Given the description of an element on the screen output the (x, y) to click on. 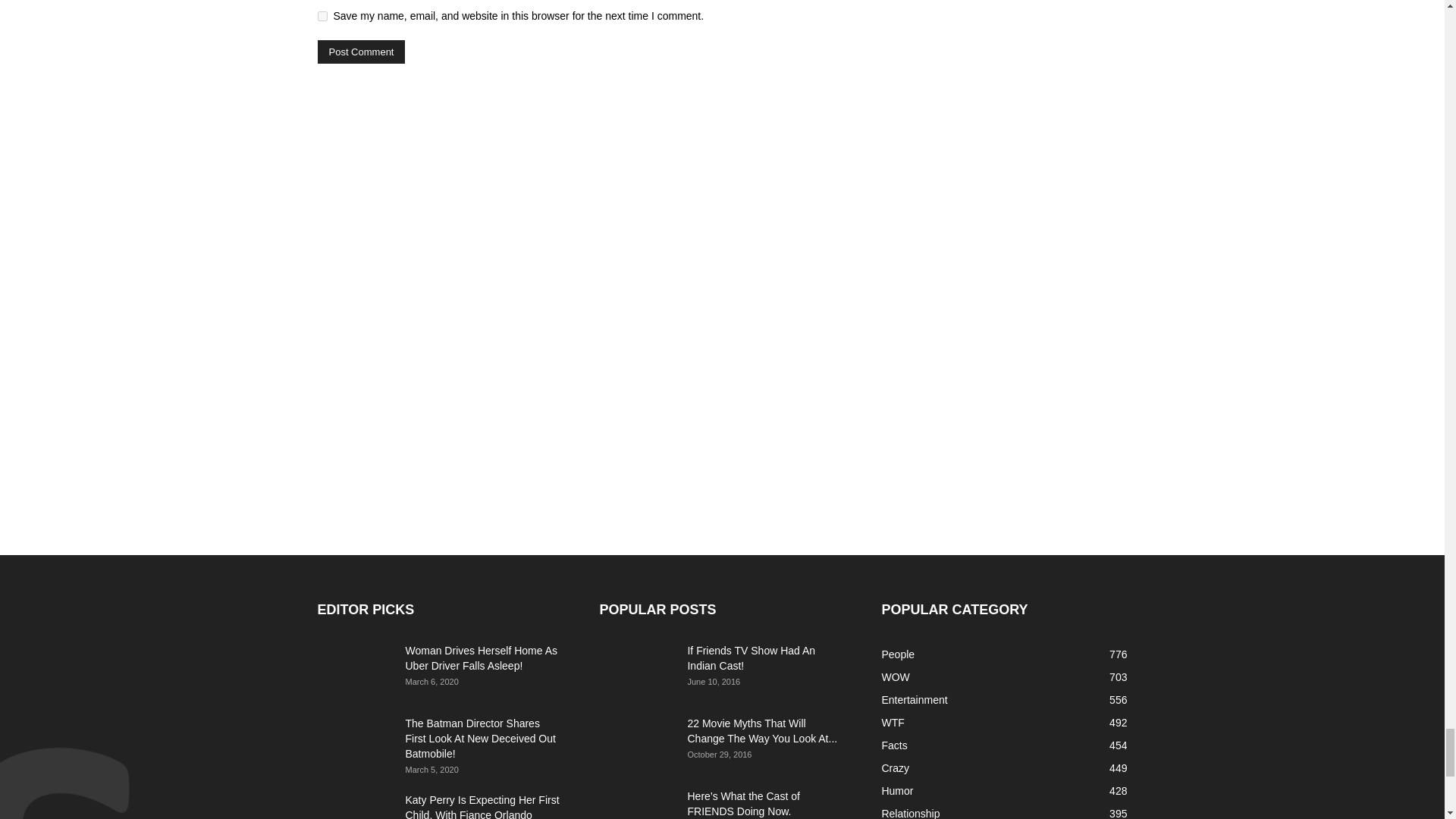
yes (321, 16)
Post Comment (360, 51)
